Given the description of an element on the screen output the (x, y) to click on. 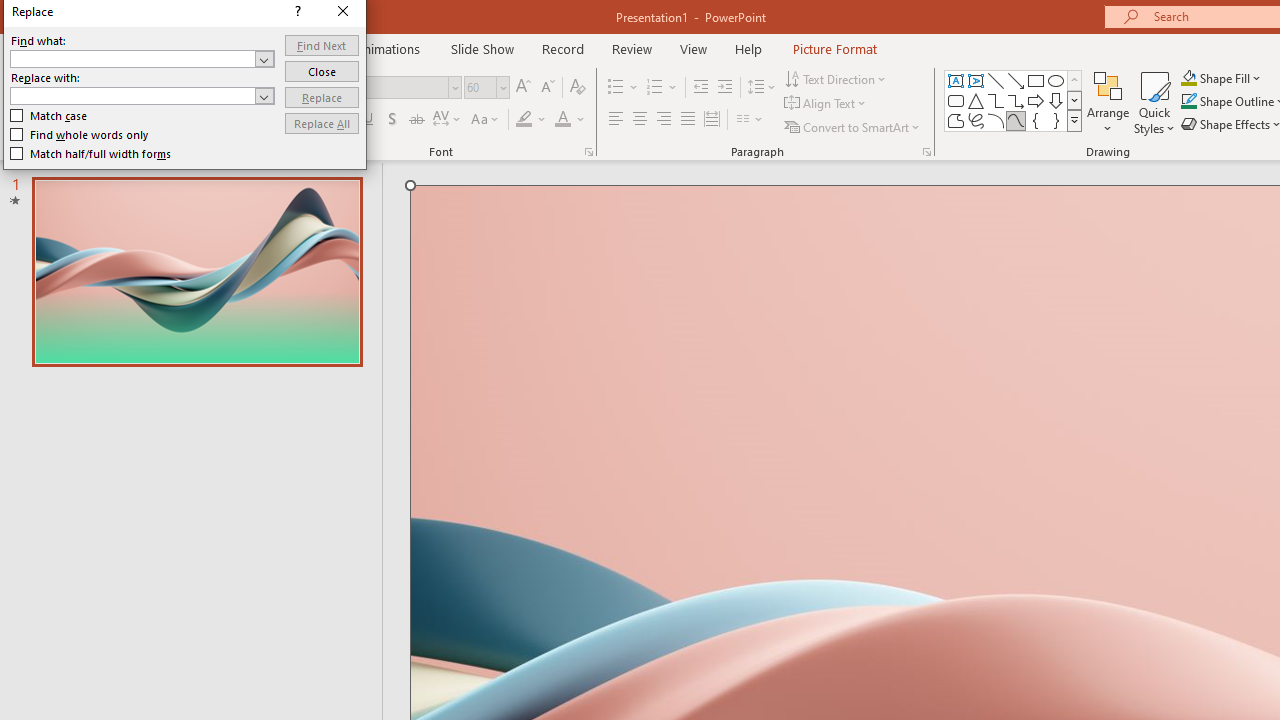
Replace with (132, 95)
Replace (321, 96)
